Given the description of an element on the screen output the (x, y) to click on. 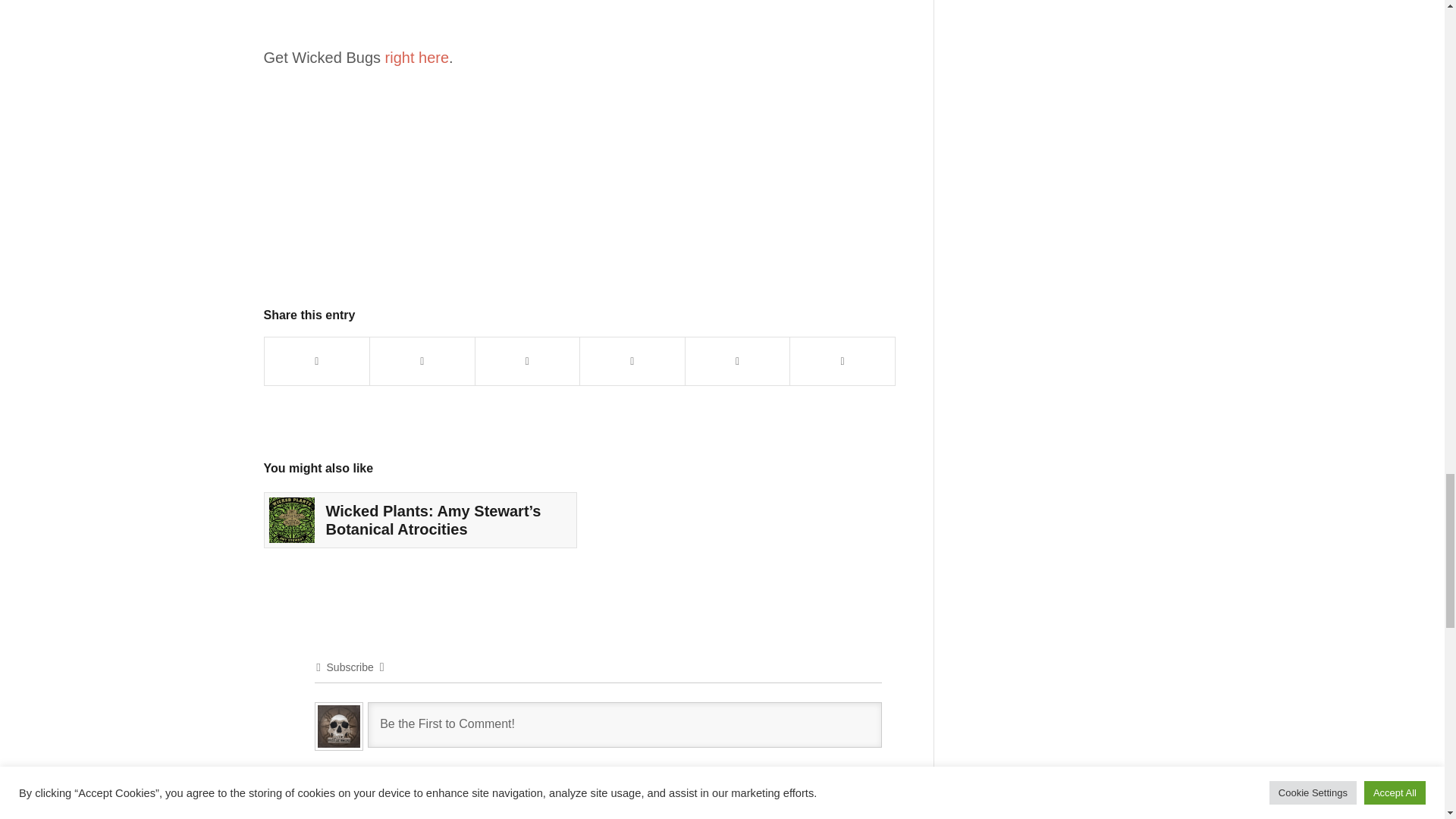
right here (417, 57)
